Given the description of an element on the screen output the (x, y) to click on. 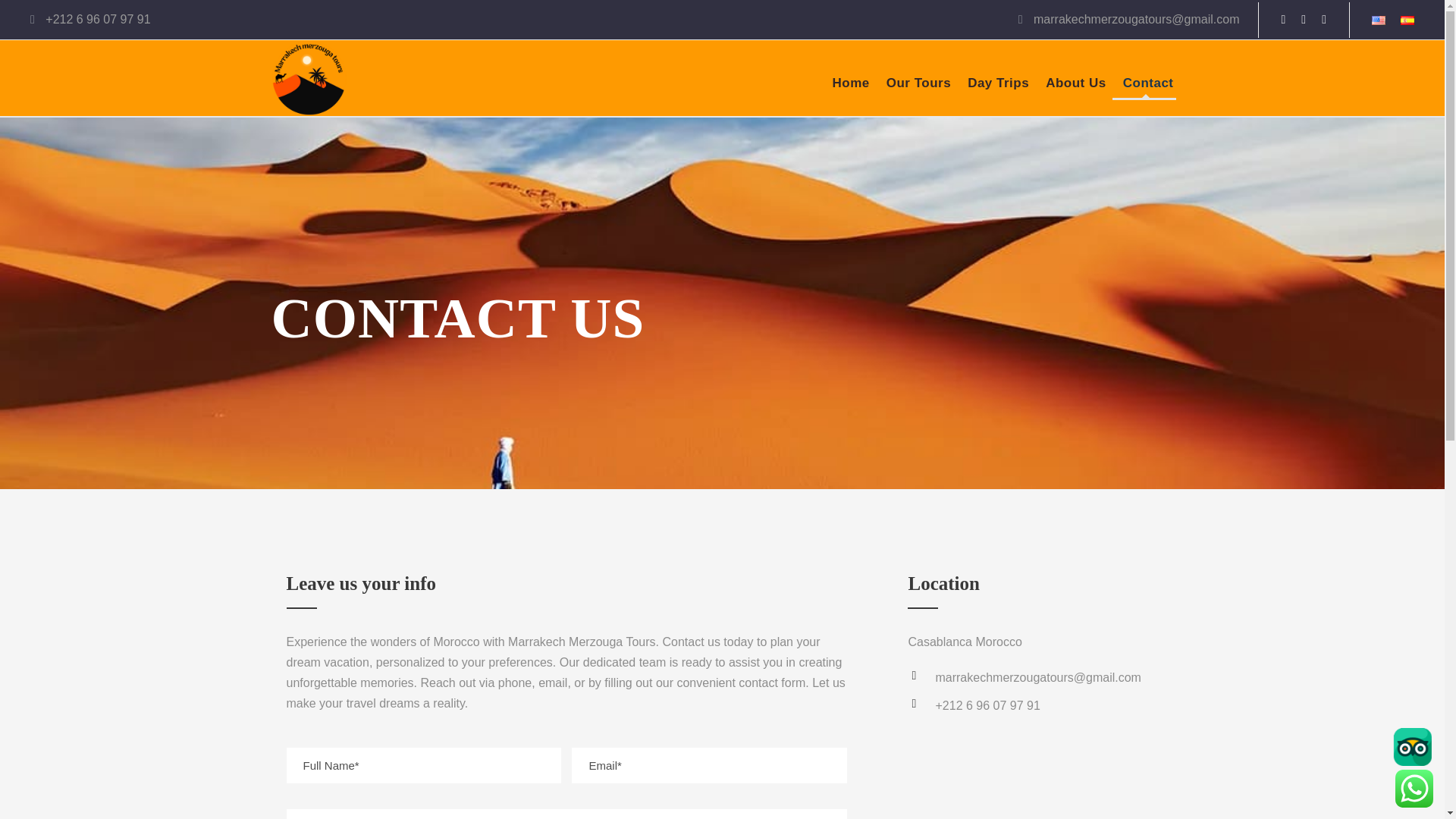
About Us (1075, 85)
Contact (1147, 85)
Home (850, 85)
Our Tours (918, 85)
Day Trips (998, 85)
